Given the description of an element on the screen output the (x, y) to click on. 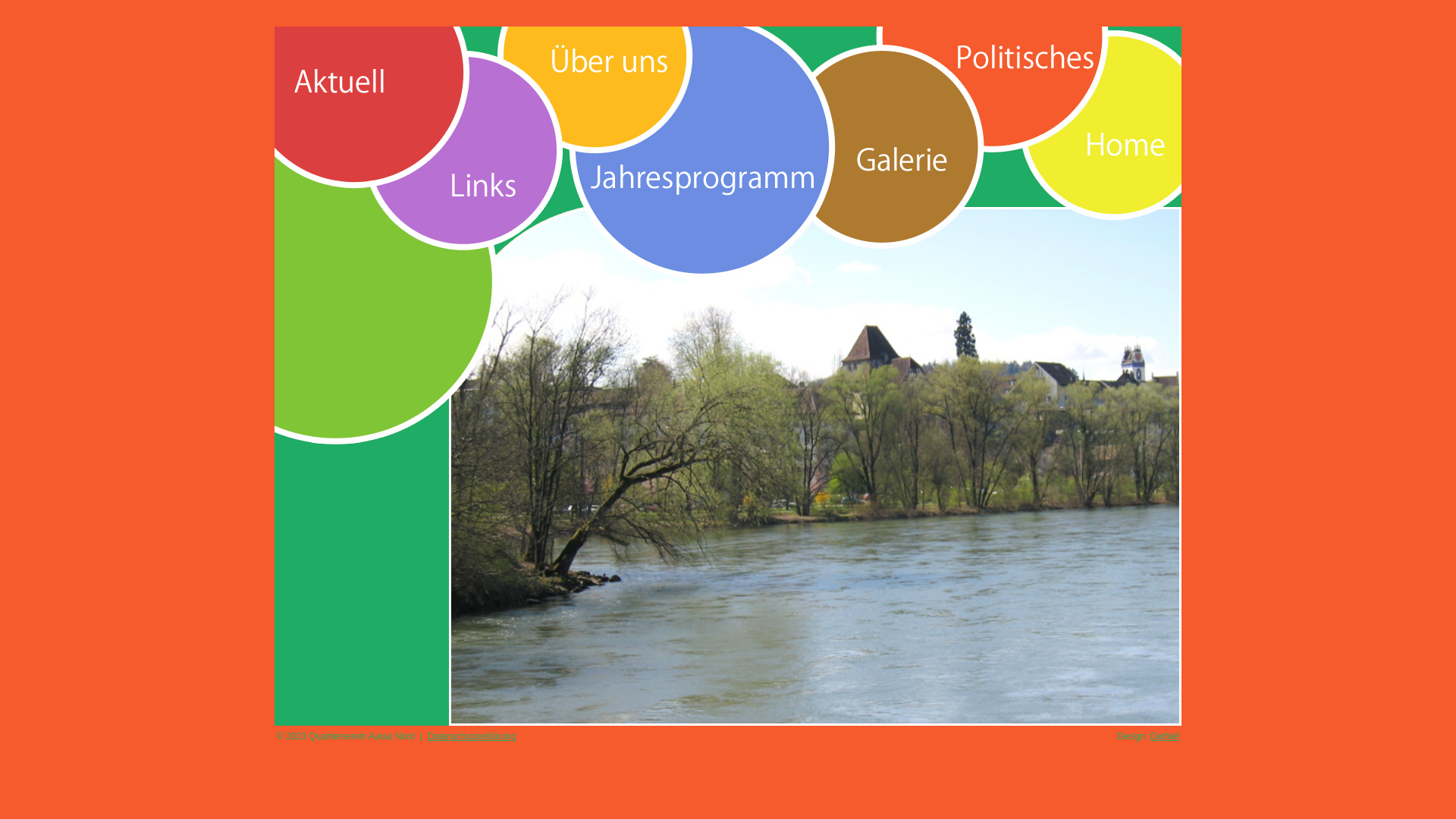
Dethlef Element type: text (1164, 736)
